Given the description of an element on the screen output the (x, y) to click on. 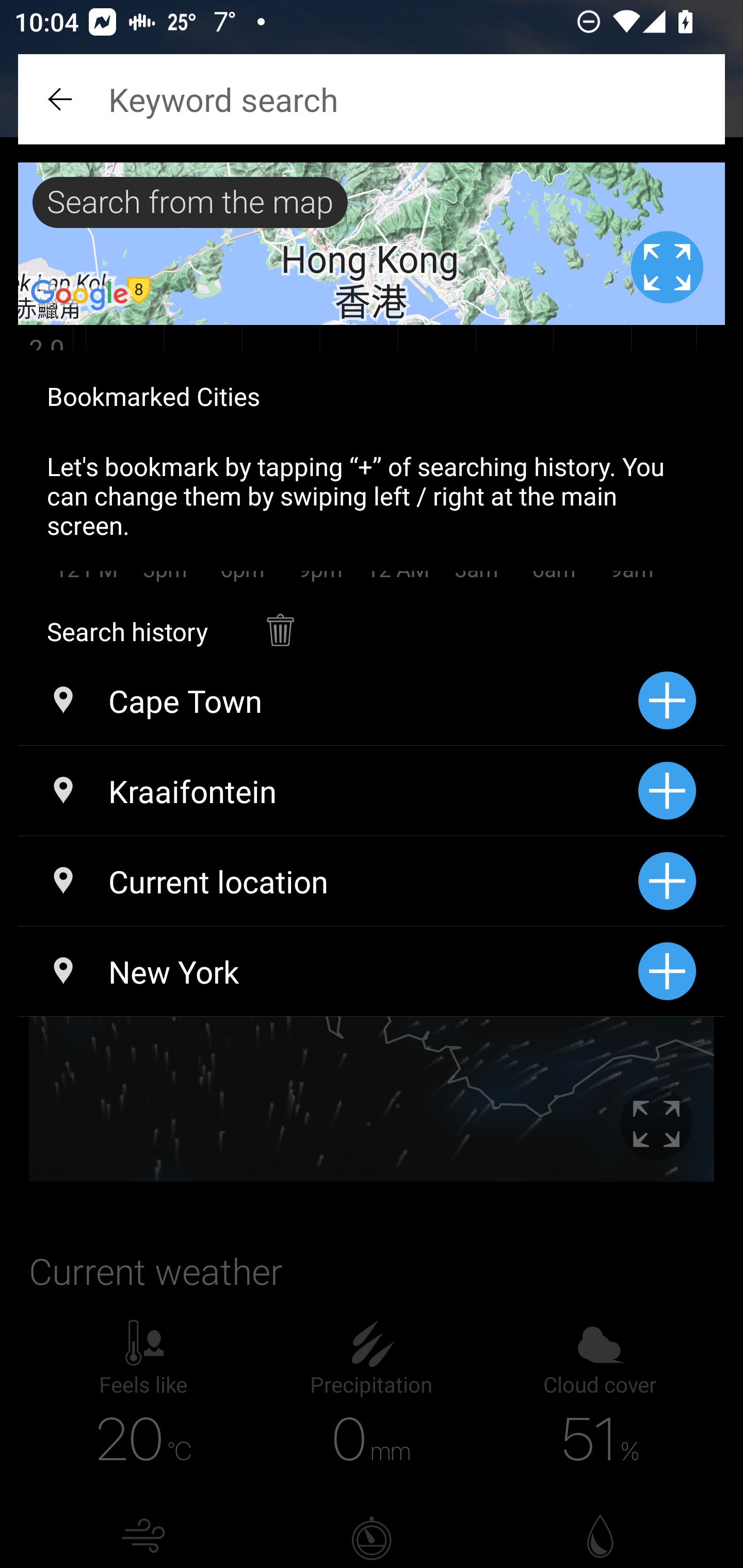
Keyword search (371, 99)
 (61, 99)
 (280, 619)
 Cape Town (327, 700)
 Kraaifontein (327, 790)
 Current location (327, 880)
 New York (327, 971)
